Given the description of an element on the screen output the (x, y) to click on. 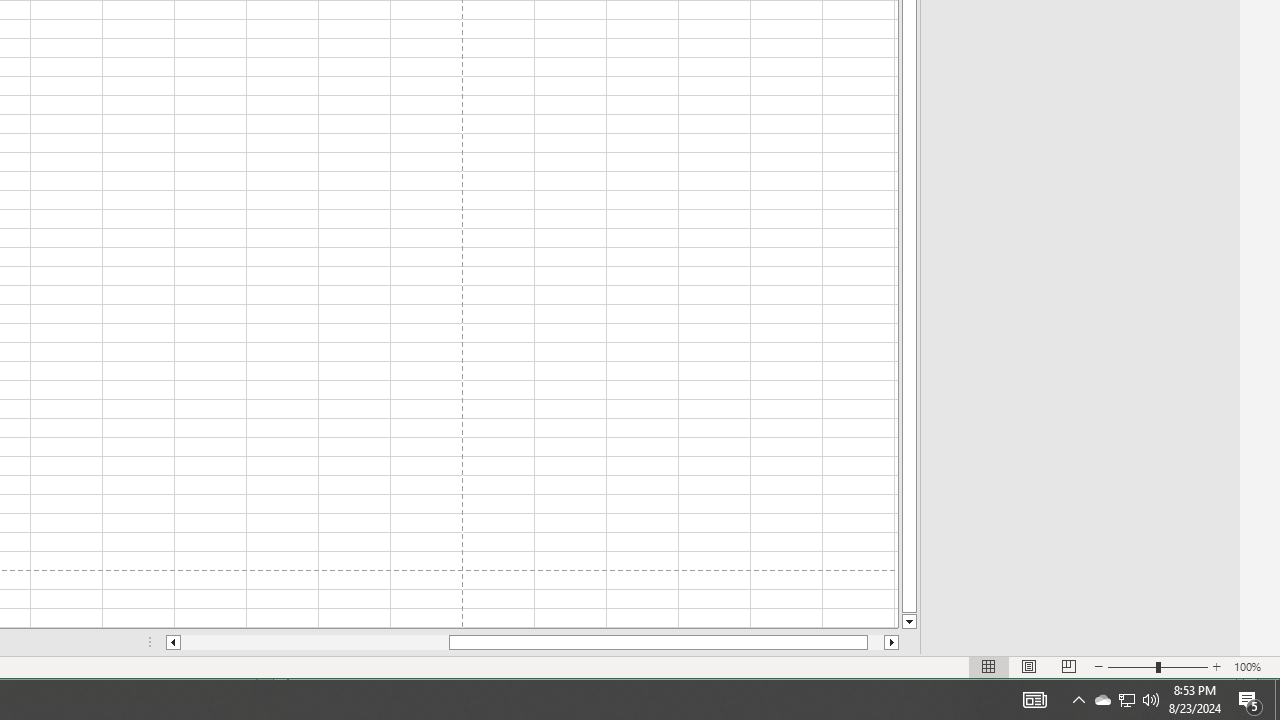
User Promoted Notification Area (1126, 699)
Show desktop (1277, 699)
Notification Chevron (1078, 699)
AutomationID: 4105 (1034, 699)
Q2790: 100% (1126, 699)
